Given the description of an element on the screen output the (x, y) to click on. 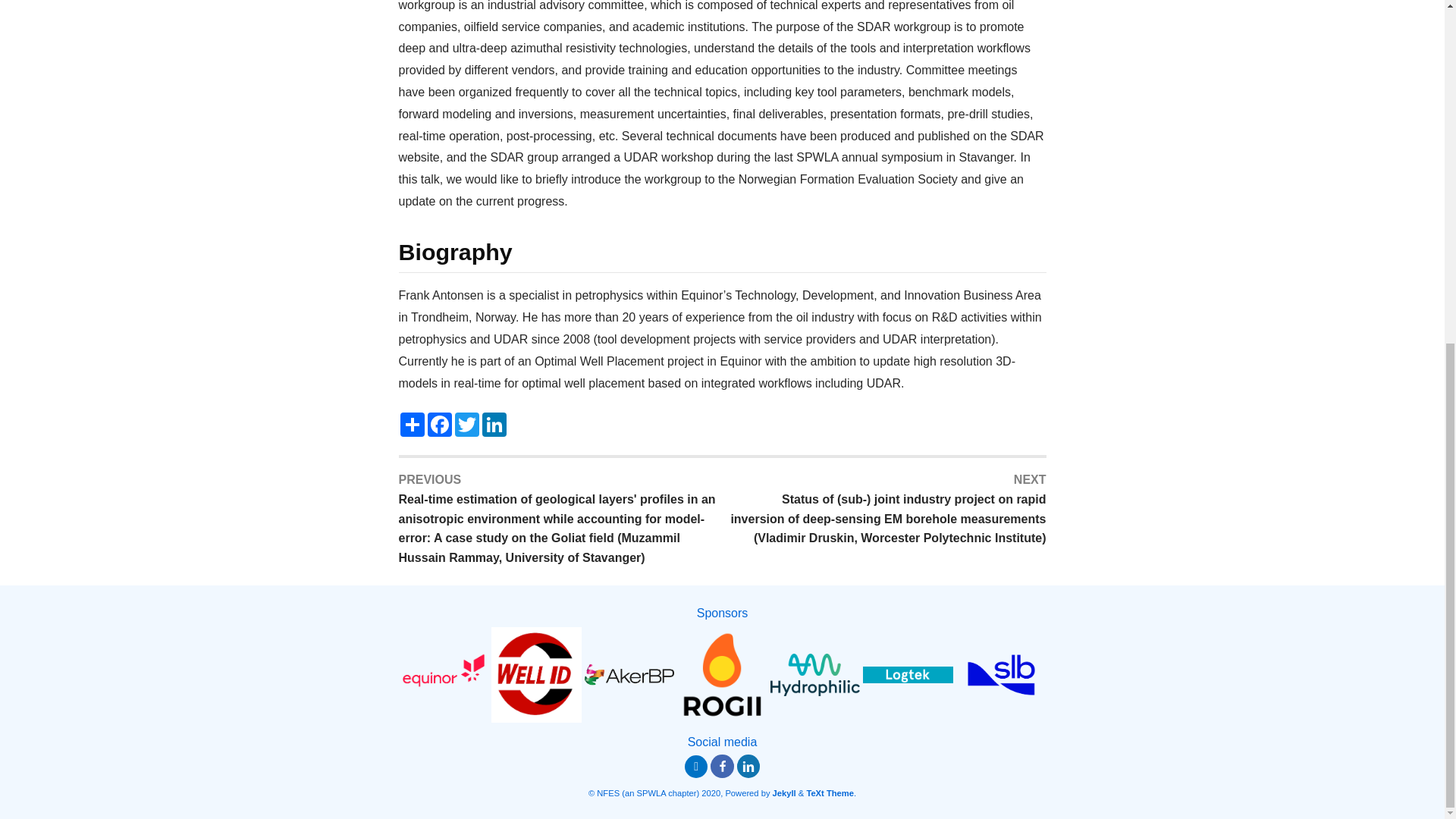
LinkedIn (494, 424)
Jekyll is a simple, blog-aware, static site generator. (784, 792)
Facebook (439, 424)
Follow us on Facebook. (721, 766)
Follow us on Linkedin. (748, 766)
TeXt Theme (829, 792)
Send us an Email. (695, 766)
Jekyll (784, 792)
TeXt is a super customizable Jekyll theme. (829, 792)
Twitter (466, 424)
